Given the description of an element on the screen output the (x, y) to click on. 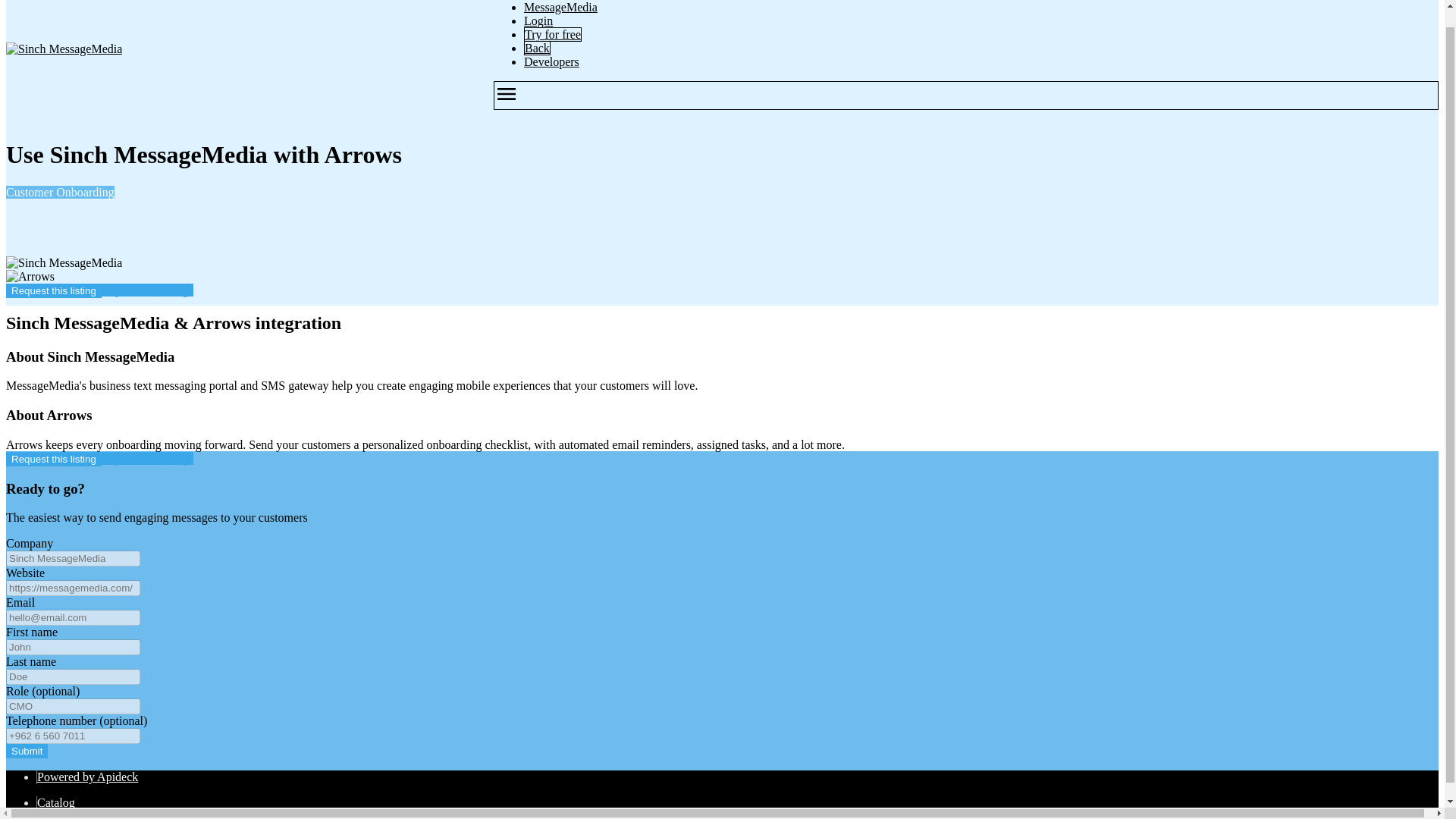
Explore all listings (147, 458)
Sinch MessageMedia (63, 49)
Try for free (552, 34)
Explore all listings (147, 289)
Back (537, 47)
Catalog (56, 802)
Powered by Apideck (87, 776)
Request this listing (53, 290)
Request this listing (53, 459)
MessageMedia (560, 6)
Login (538, 20)
Developers (551, 61)
Sinch MessageMedia (63, 263)
Submit (26, 750)
Arrows (30, 276)
